Given the description of an element on the screen output the (x, y) to click on. 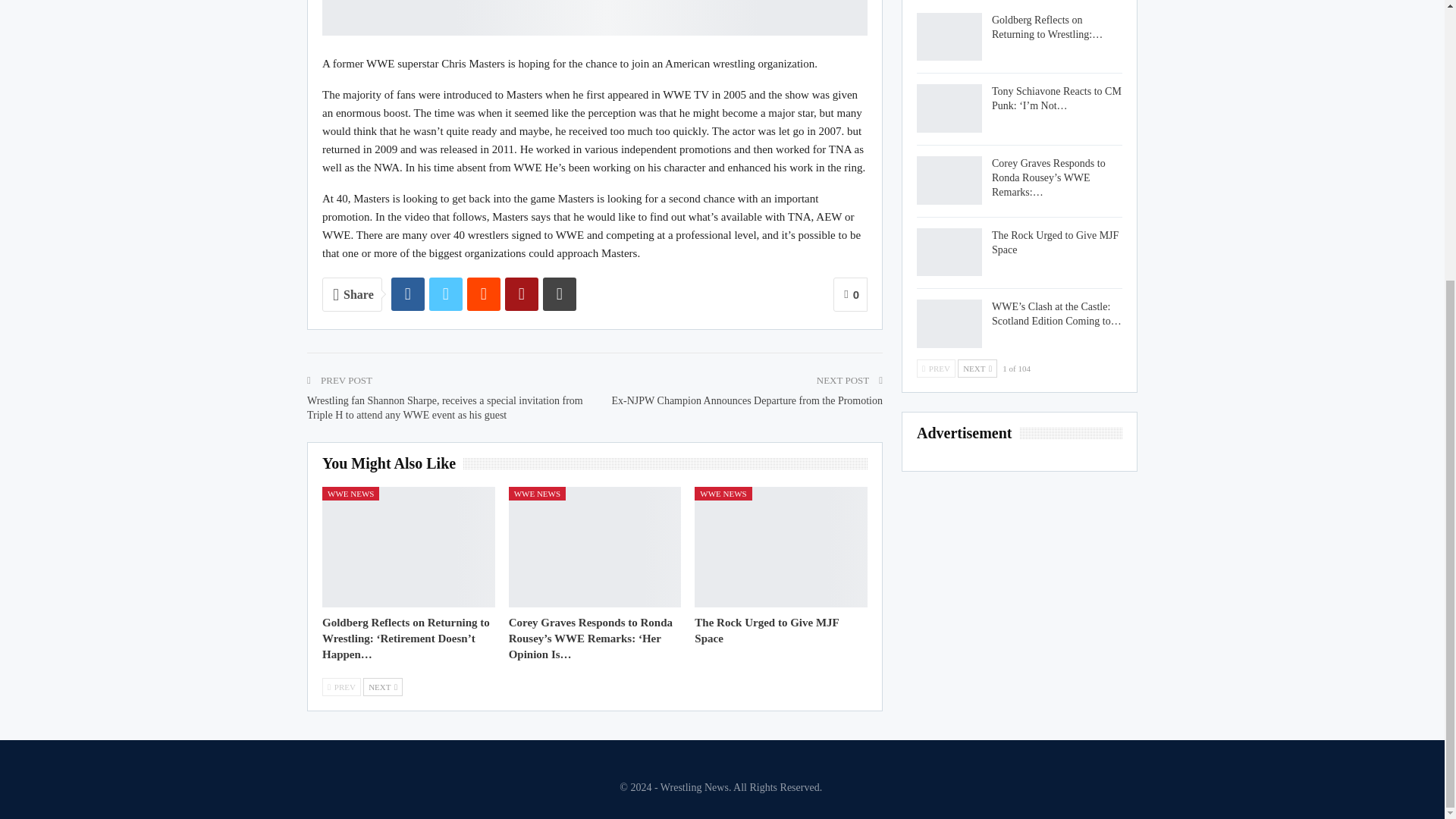
NEXT (382, 687)
The Rock Urged to Give MJF Space (766, 630)
The Rock Urged to Give MJF Space (949, 252)
WWE NEWS (722, 493)
You Might Also Like (392, 463)
Previous (341, 687)
Next (382, 687)
WWE NEWS (537, 493)
The Rock Urged to Give MJF Space (766, 630)
